Given the description of an element on the screen output the (x, y) to click on. 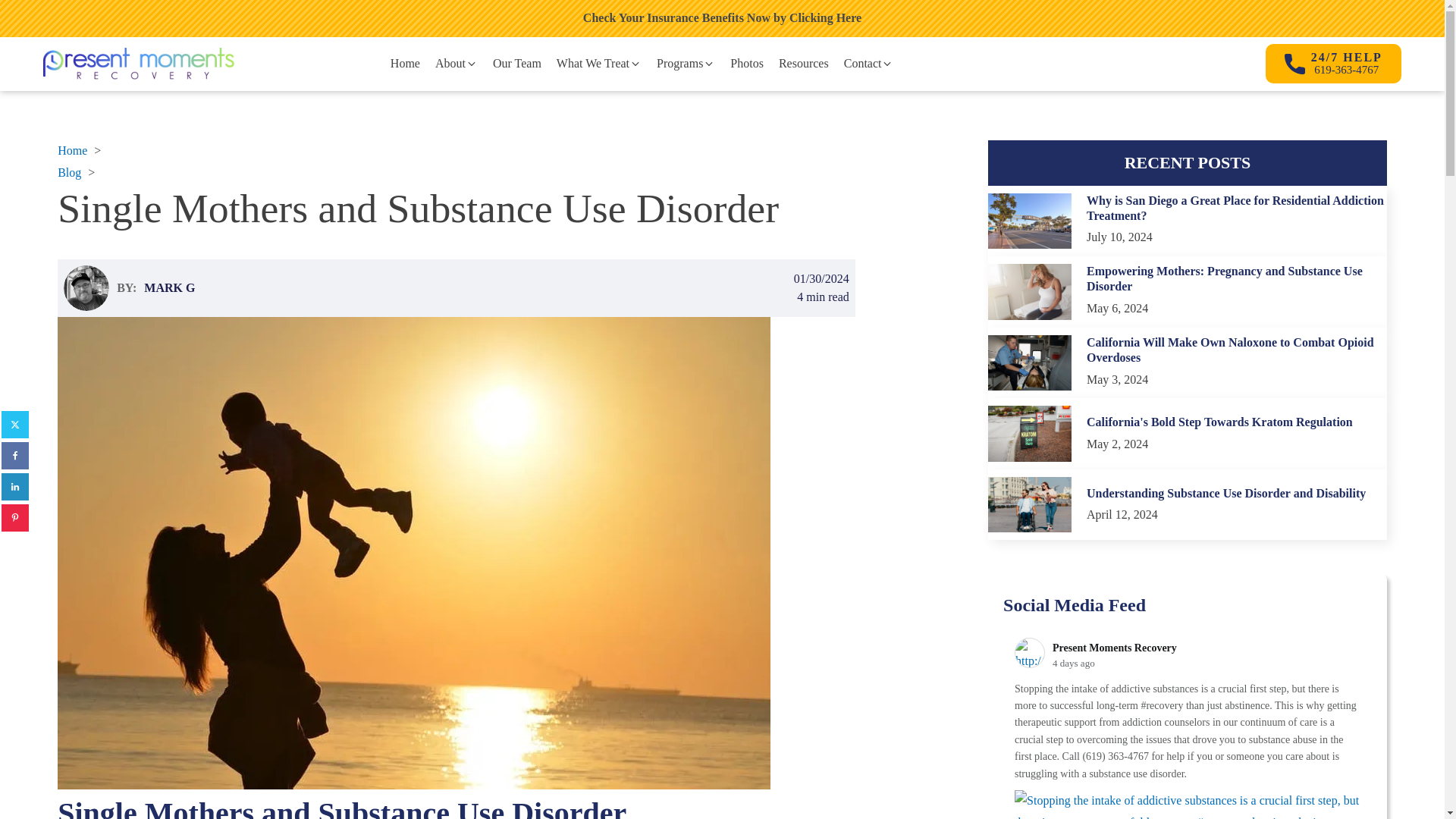
Our Team (516, 63)
Programs (685, 63)
What We Treat (598, 63)
Resources (803, 63)
Check Your Insurance Benefits Now by Clicking Here (722, 18)
Home (405, 63)
About (456, 63)
Photos (746, 63)
Contact (868, 63)
